Given the description of an element on the screen output the (x, y) to click on. 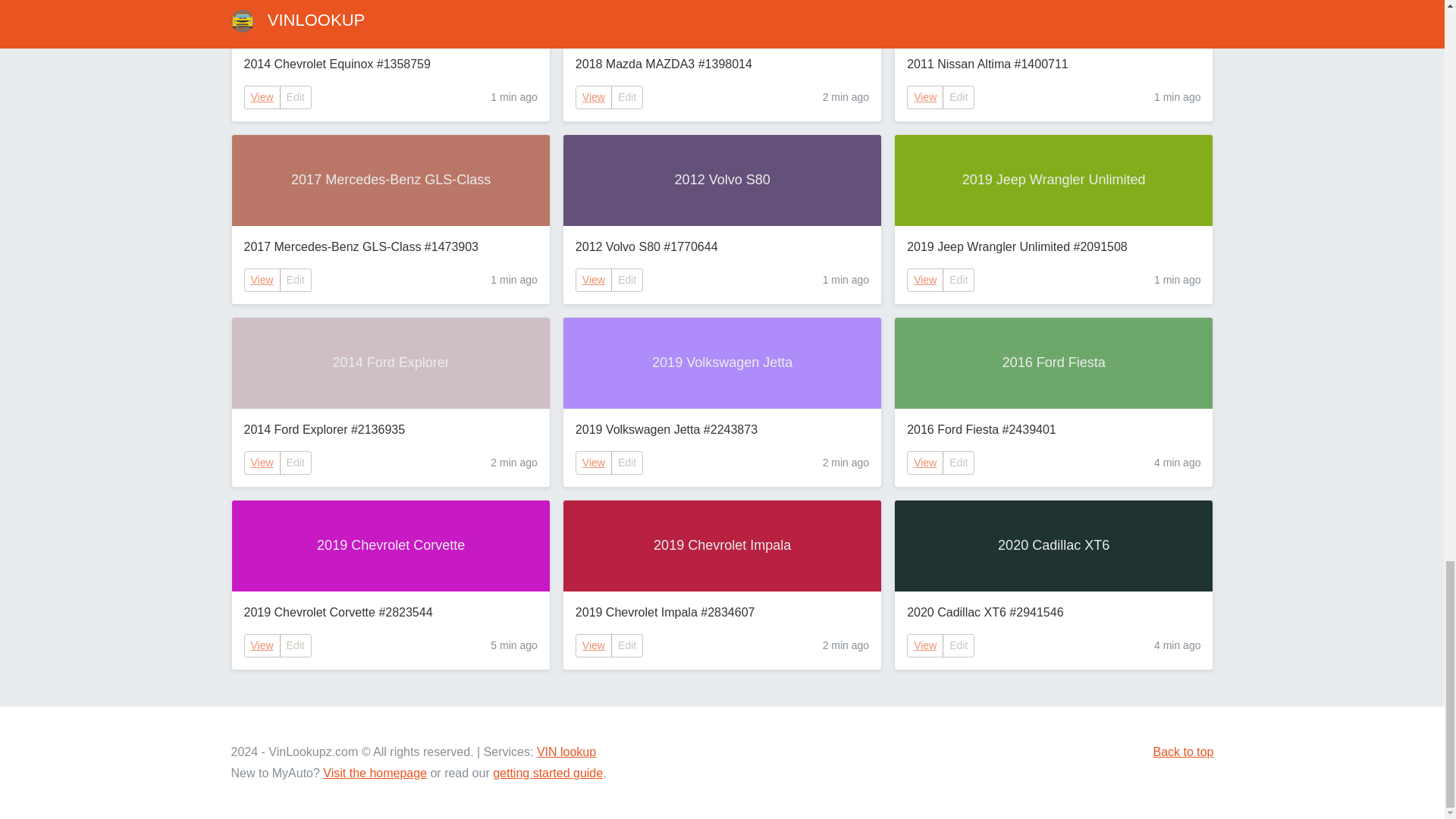
2019 Jeep Wrangler Unlimited (1053, 180)
2011 Nissan Altima (1053, 21)
Edit (958, 279)
2014 Ford Explorer (390, 362)
Edit (627, 279)
View (262, 96)
View (262, 463)
Edit (295, 279)
2012 Volvo S80 (721, 180)
Edit (295, 463)
